Given the description of an element on the screen output the (x, y) to click on. 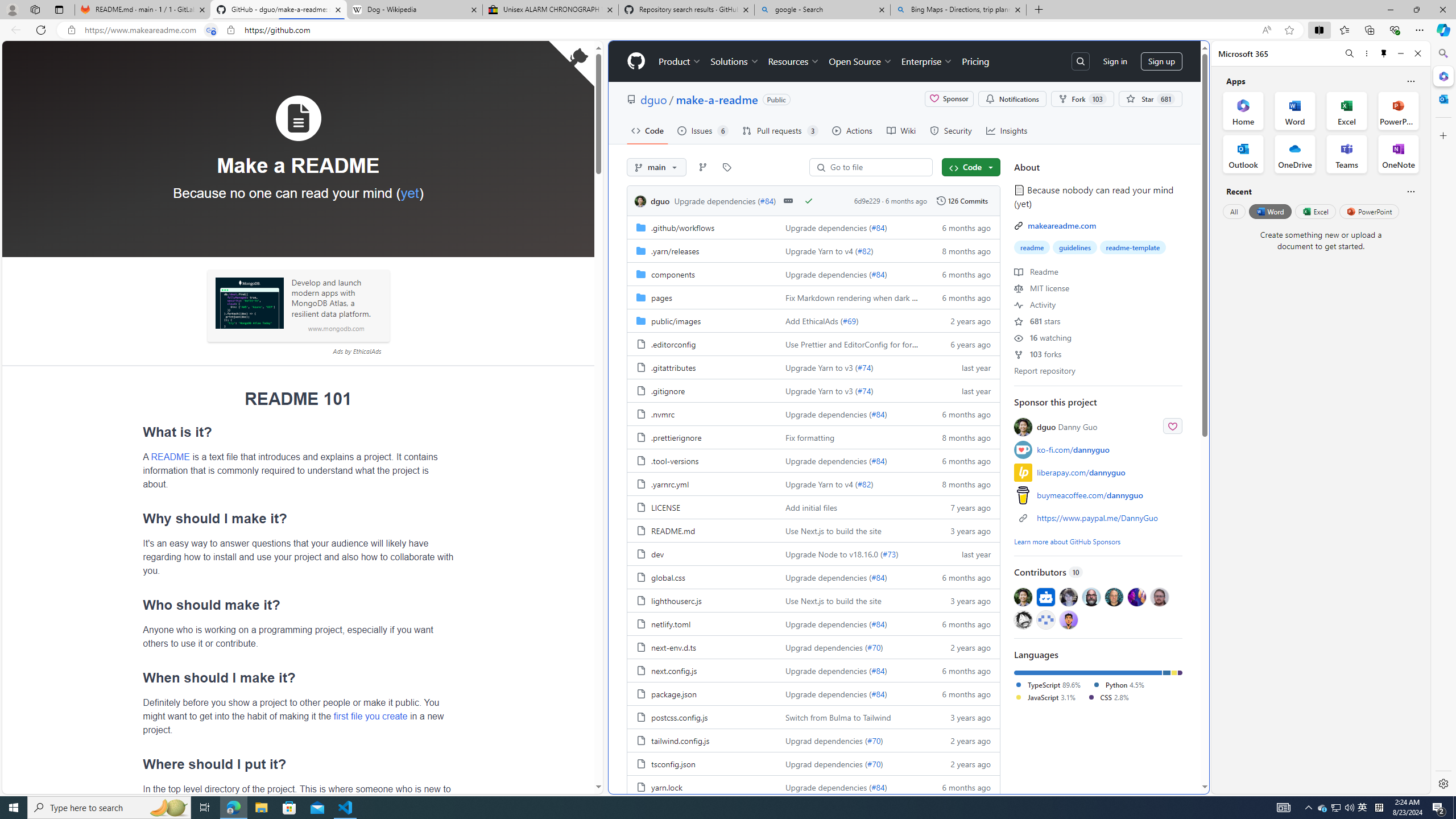
TypeScript 89.6% (1046, 683)
AutomationID: folder-row-6 (813, 366)
first file you create (370, 715)
AutomationID: folder-row-11 (813, 483)
Sponsor (949, 98)
OneNote Office App (1398, 154)
You must be signed in to change notification settings (1011, 98)
yet (409, 192)
readme (1031, 246)
guidelines (1074, 246)
main branch (656, 167)
Actions (852, 130)
.yarn/releases, (Directory) (701, 250)
